Given the description of an element on the screen output the (x, y) to click on. 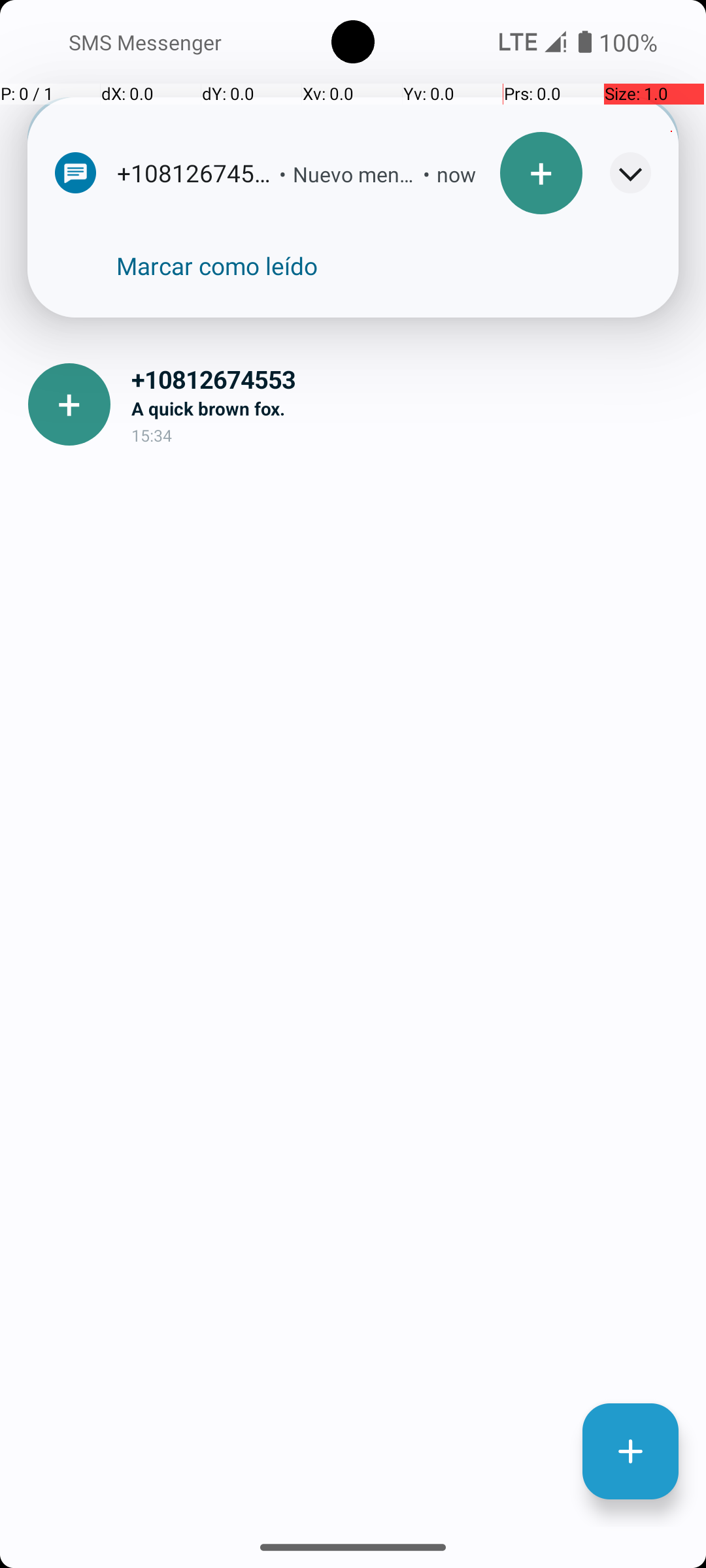
Acerca de Element type: android.widget.Button (560, 138)
+15505050843 Element type: android.widget.TextView (408, 237)
Hello, World! Element type: android.widget.TextView (408, 266)
+10812674553 Element type: android.widget.TextView (408, 378)
A quick brown fox. Element type: android.widget.TextView (408, 407)
Marcar como leído Element type: android.widget.Button (216, 265)
• Element type: android.widget.TextView (282, 174)
Nuevo mensaje Element type: android.widget.TextView (354, 174)
now Element type: android.widget.TextView (455, 174)
Alerted Element type: android.widget.ImageView (468, 175)
